Given the description of an element on the screen output the (x, y) to click on. 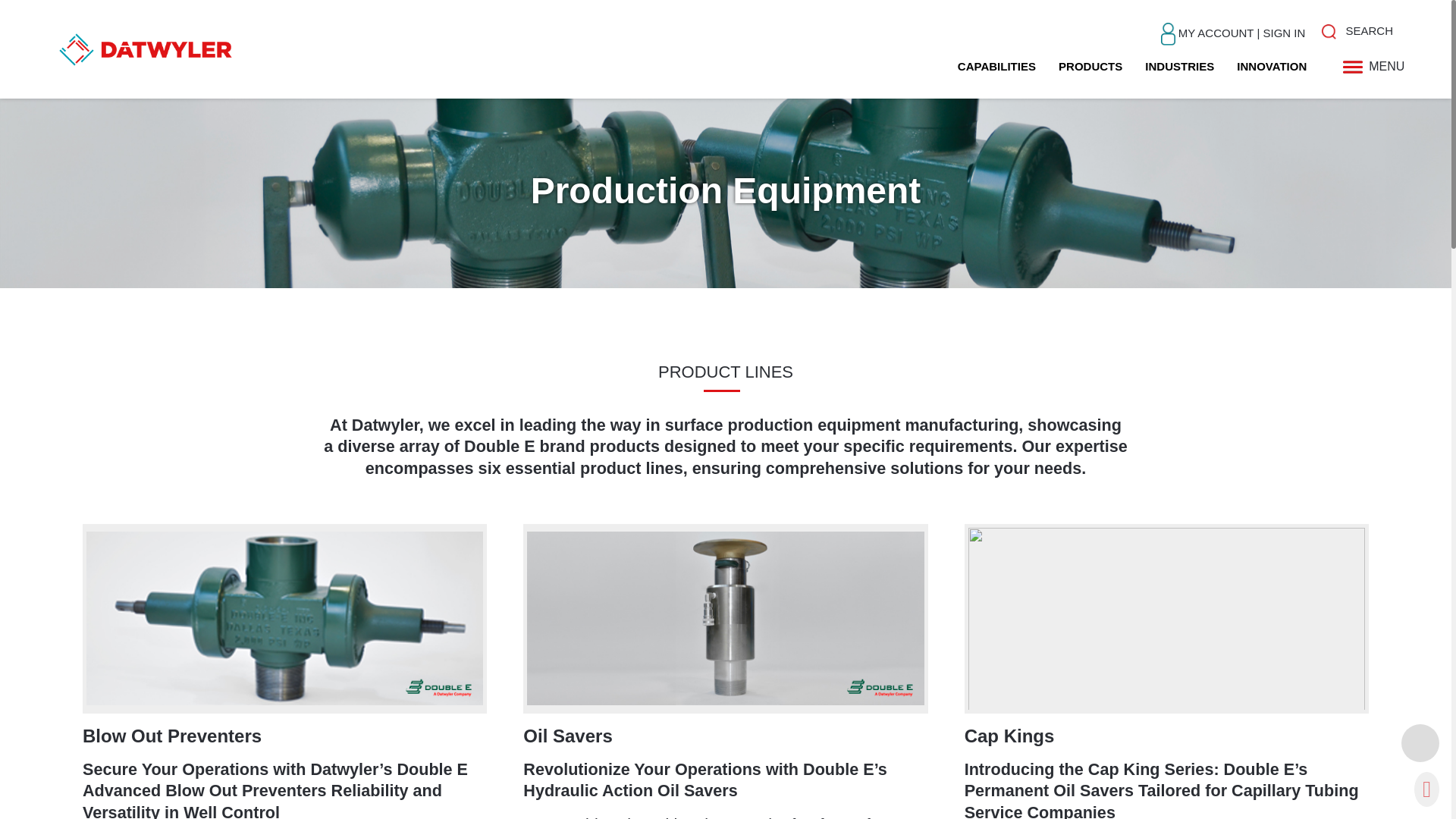
INDUSTRIES (1179, 65)
Cap Kings (1008, 735)
INNOVATION (1271, 65)
PRODUCTS (1090, 65)
CAPABILITIES (996, 65)
Blow Out Preventers (172, 735)
Oil Savers (566, 735)
